Given the description of an element on the screen output the (x, y) to click on. 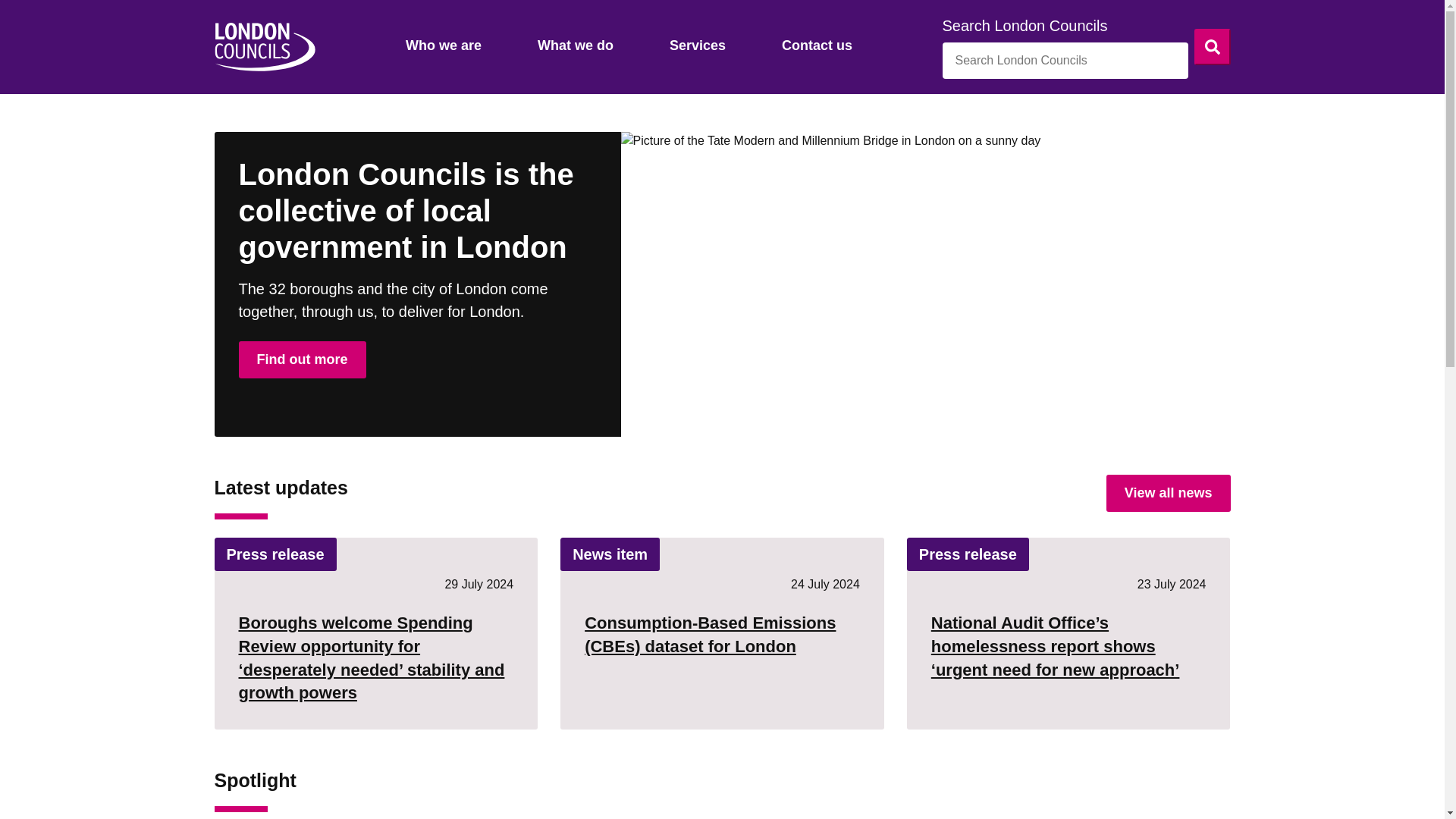
View all news (1168, 493)
Search (1211, 46)
What we do (575, 47)
Who we are (443, 47)
Skip to main content (12, 12)
Find out more (301, 359)
Contact us (817, 47)
Services (698, 47)
Search (1211, 46)
